Given the description of an element on the screen output the (x, y) to click on. 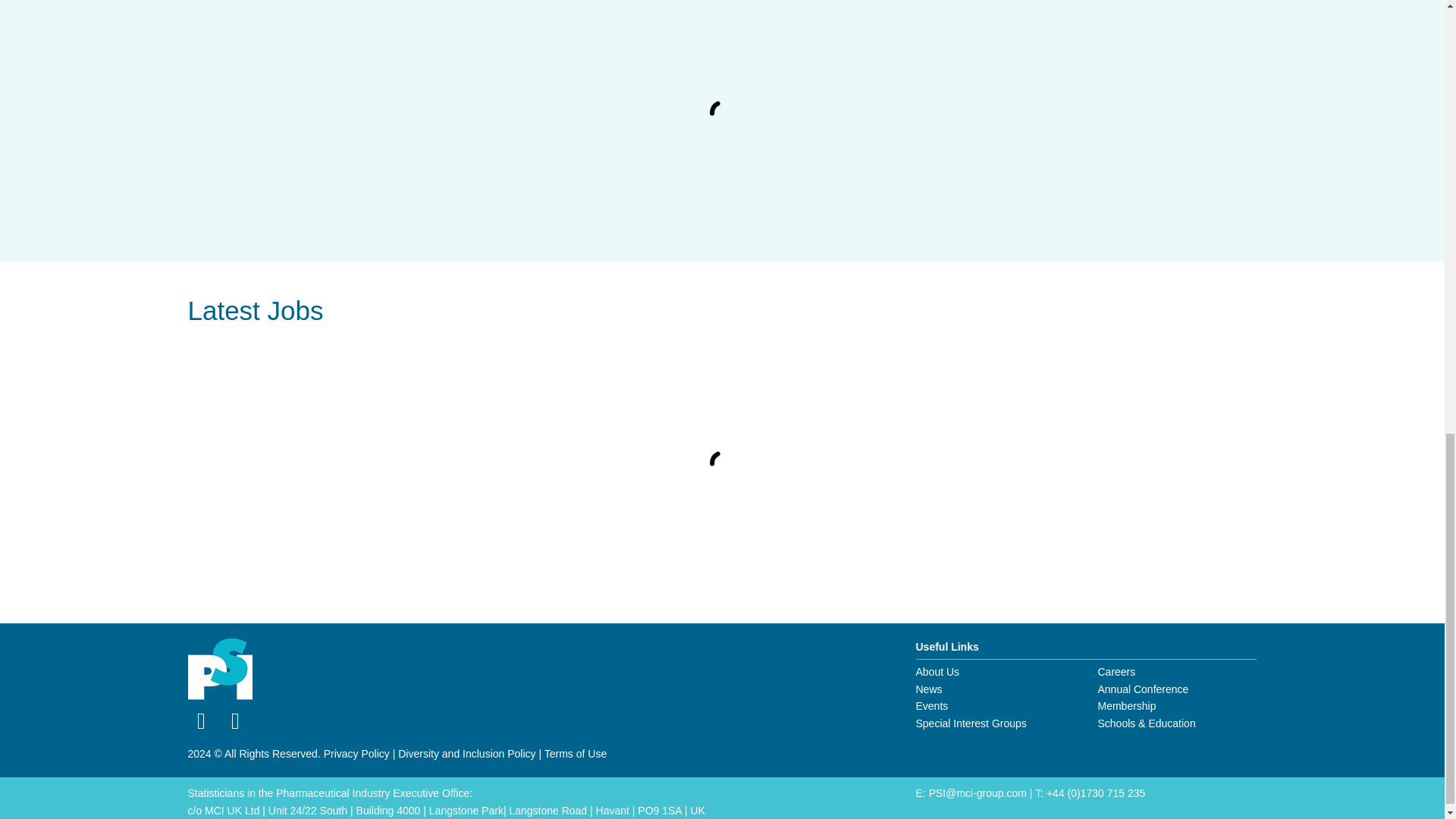
PSI (219, 670)
